Given the description of an element on the screen output the (x, y) to click on. 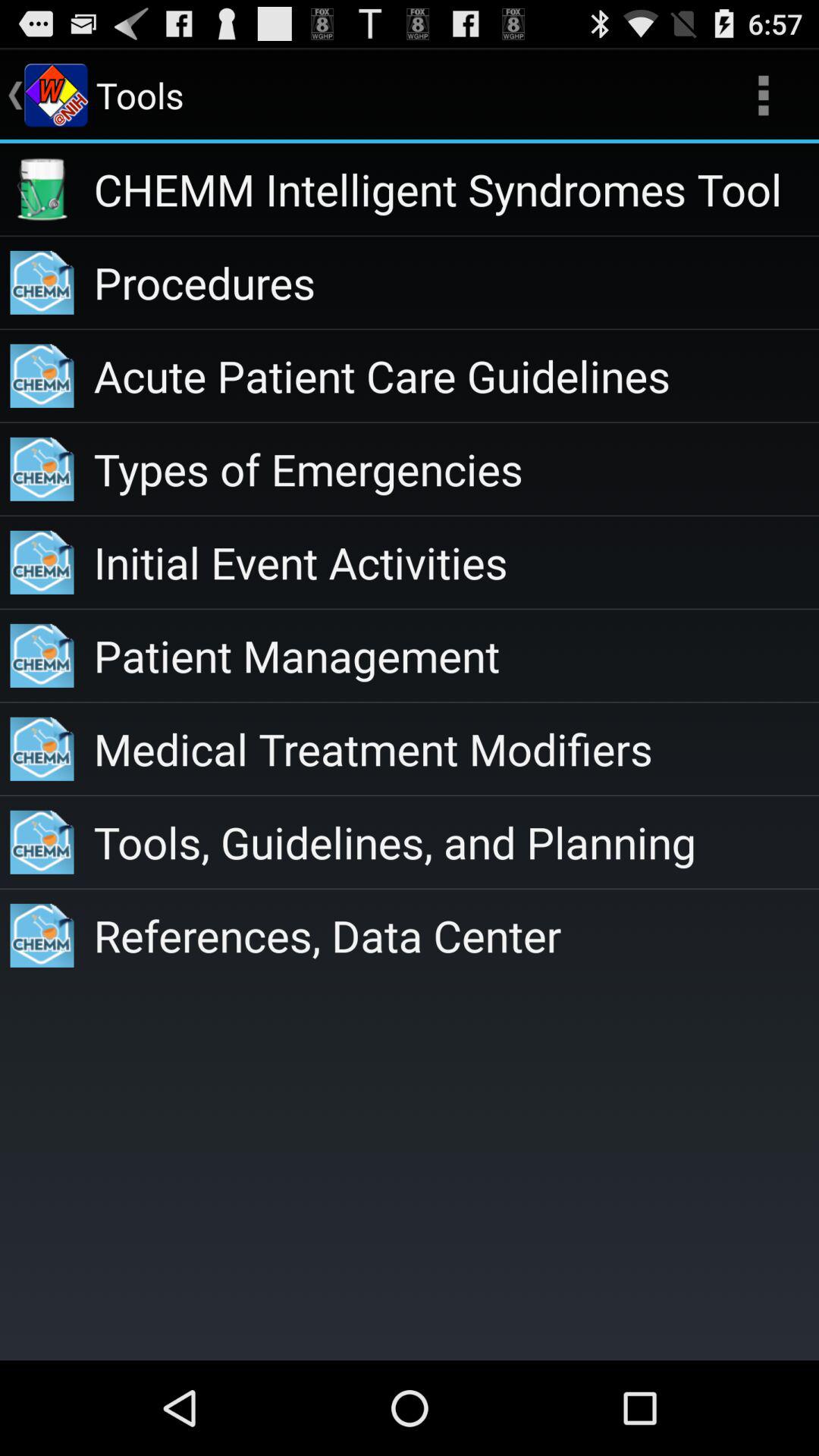
turn off item below the chemm intelligent syndromes (456, 282)
